Given the description of an element on the screen output the (x, y) to click on. 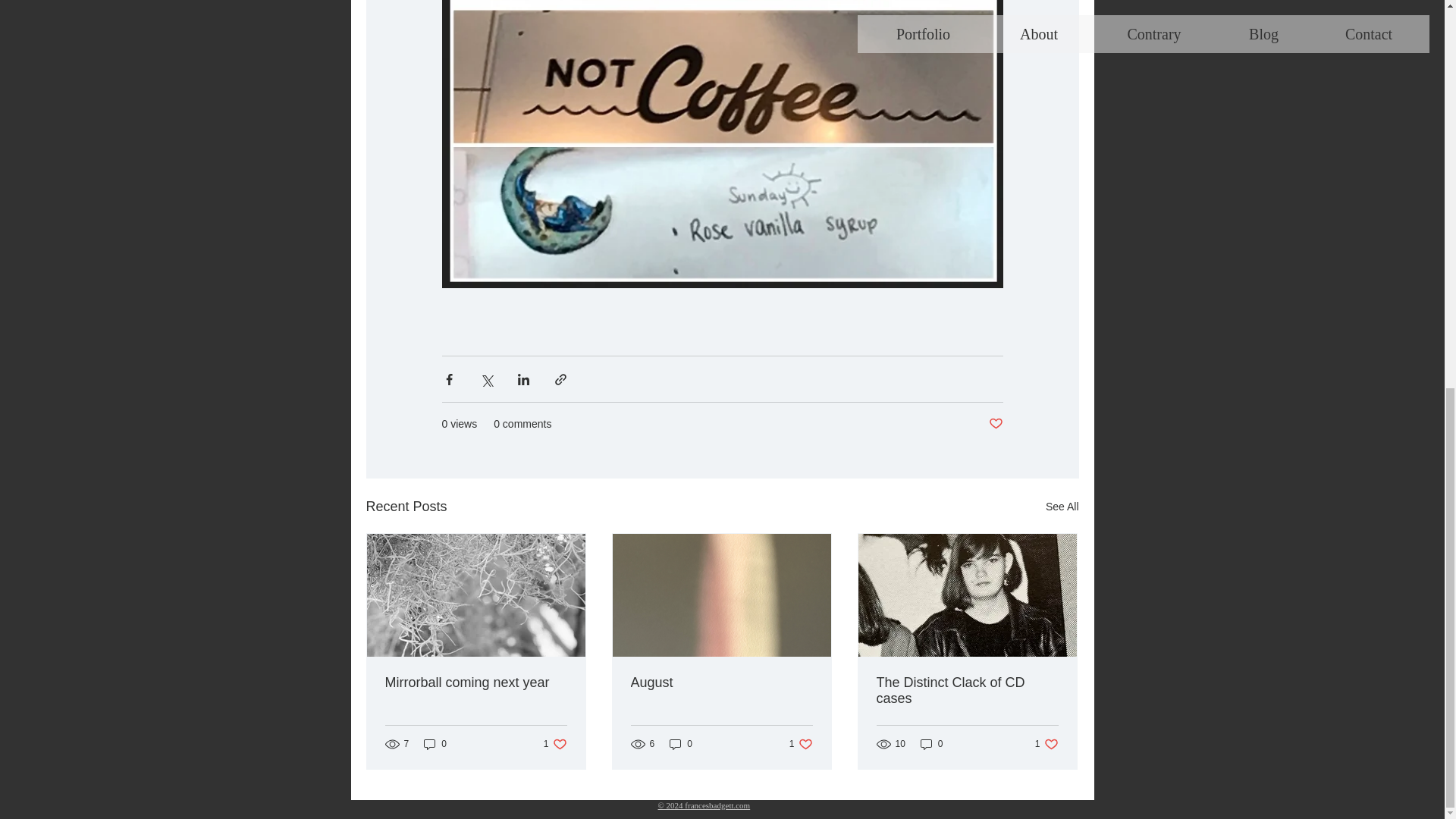
The Distinct Clack of CD cases (967, 690)
0 (555, 744)
0 (1046, 744)
See All (931, 744)
Mirrorball coming next year (681, 744)
Post not marked as liked (1061, 506)
August (800, 744)
0 (476, 682)
